Given the description of an element on the screen output the (x, y) to click on. 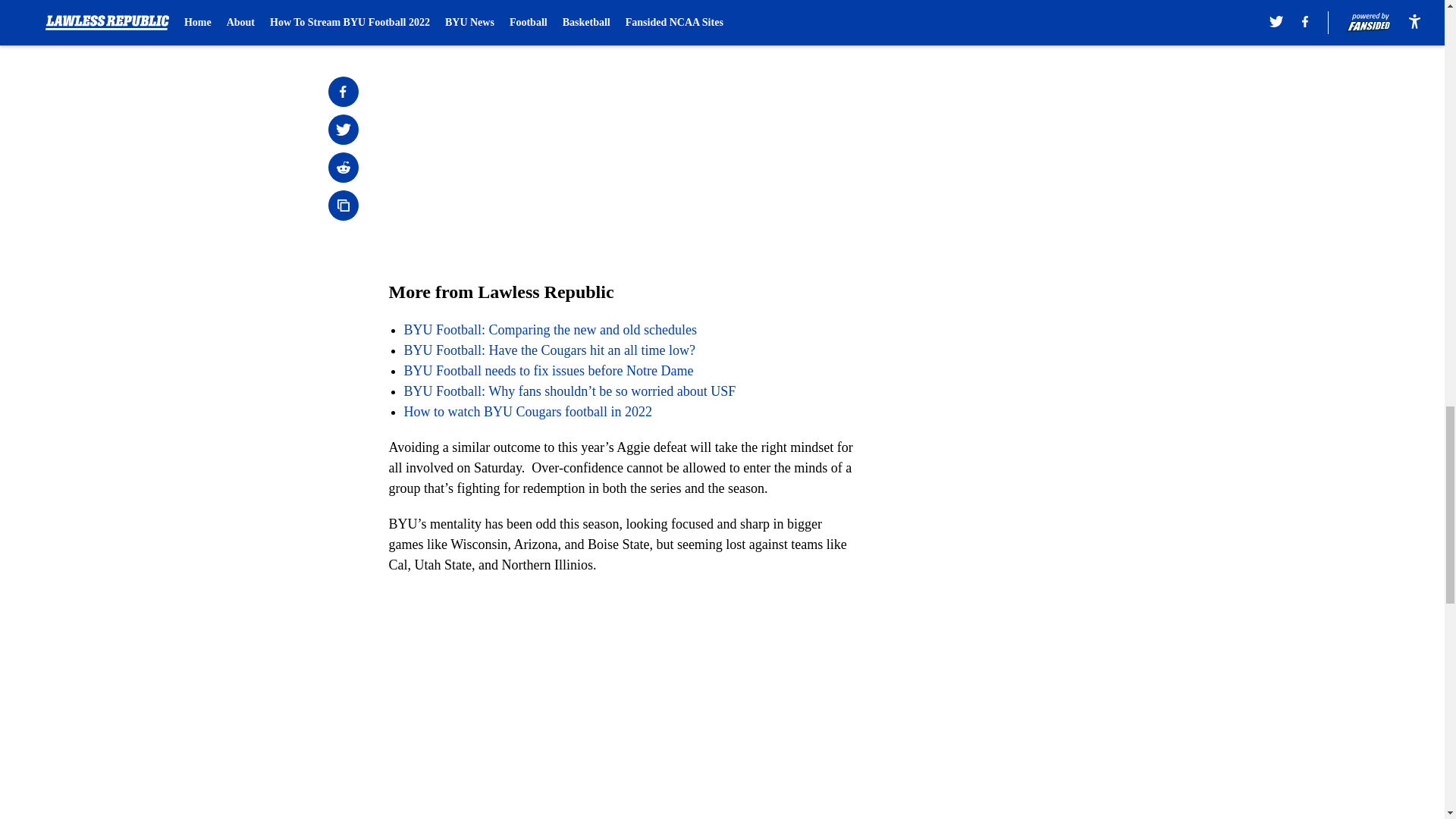
BYU Football: Comparing the new and old schedules (549, 329)
BYU Football needs to fix issues before Notre Dame (548, 370)
How to watch BYU Cougars football in 2022 (526, 411)
BYU Football: Have the Cougars hit an all time low? (548, 350)
